Given the description of an element on the screen output the (x, y) to click on. 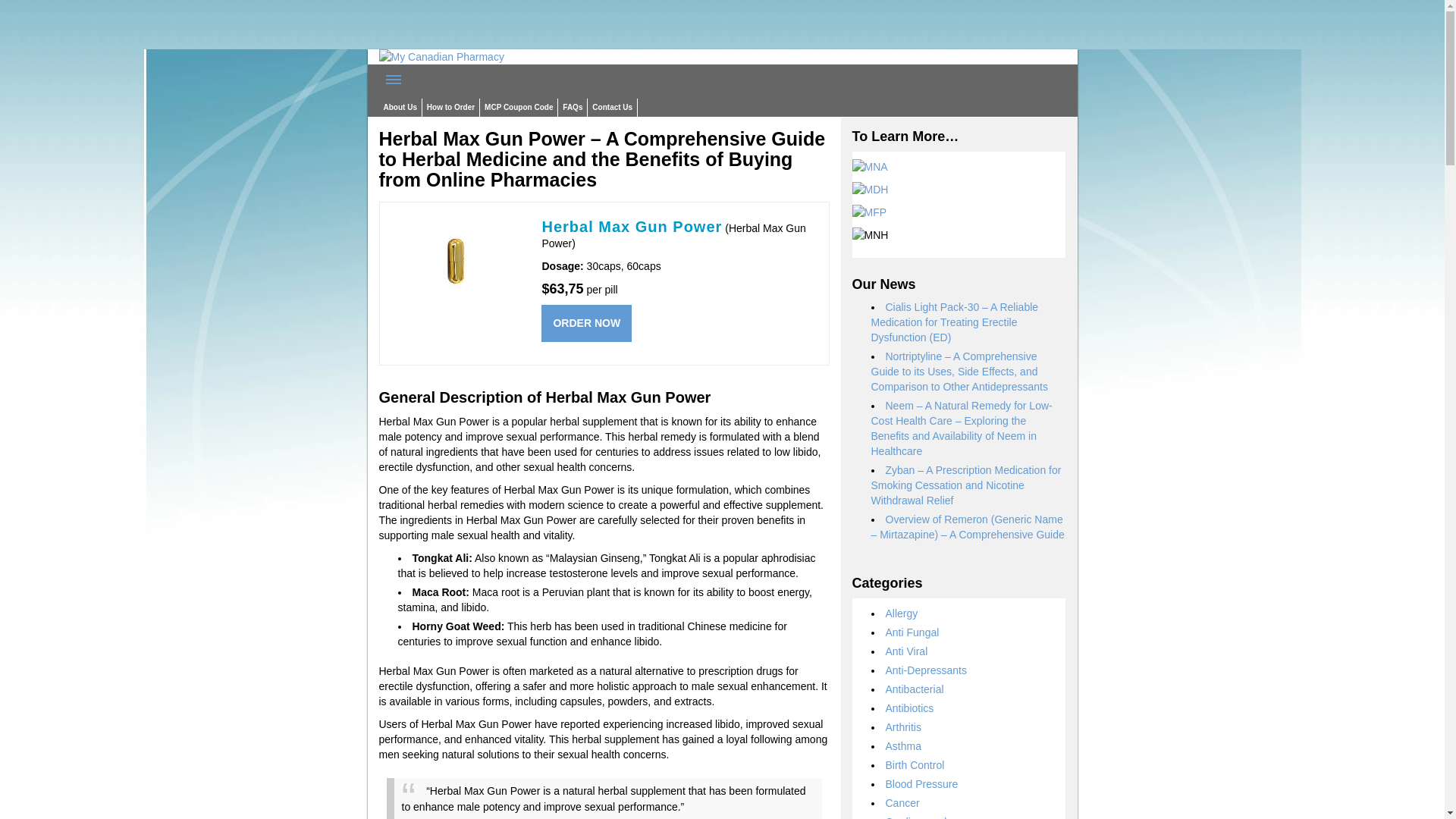
FAQs (571, 107)
How to Order (450, 107)
Anti Fungal (912, 632)
Antibacterial (914, 689)
Blood Pressure (921, 784)
Arthritis (903, 727)
Contact Us (612, 107)
Asthma (903, 746)
MCP Coupon Code (518, 107)
Anti Viral (906, 651)
Cancer (902, 802)
Menu (393, 79)
Cardiovascular (920, 817)
Antibiotics (909, 707)
My Canadian Pharmacy (440, 56)
